Given the description of an element on the screen output the (x, y) to click on. 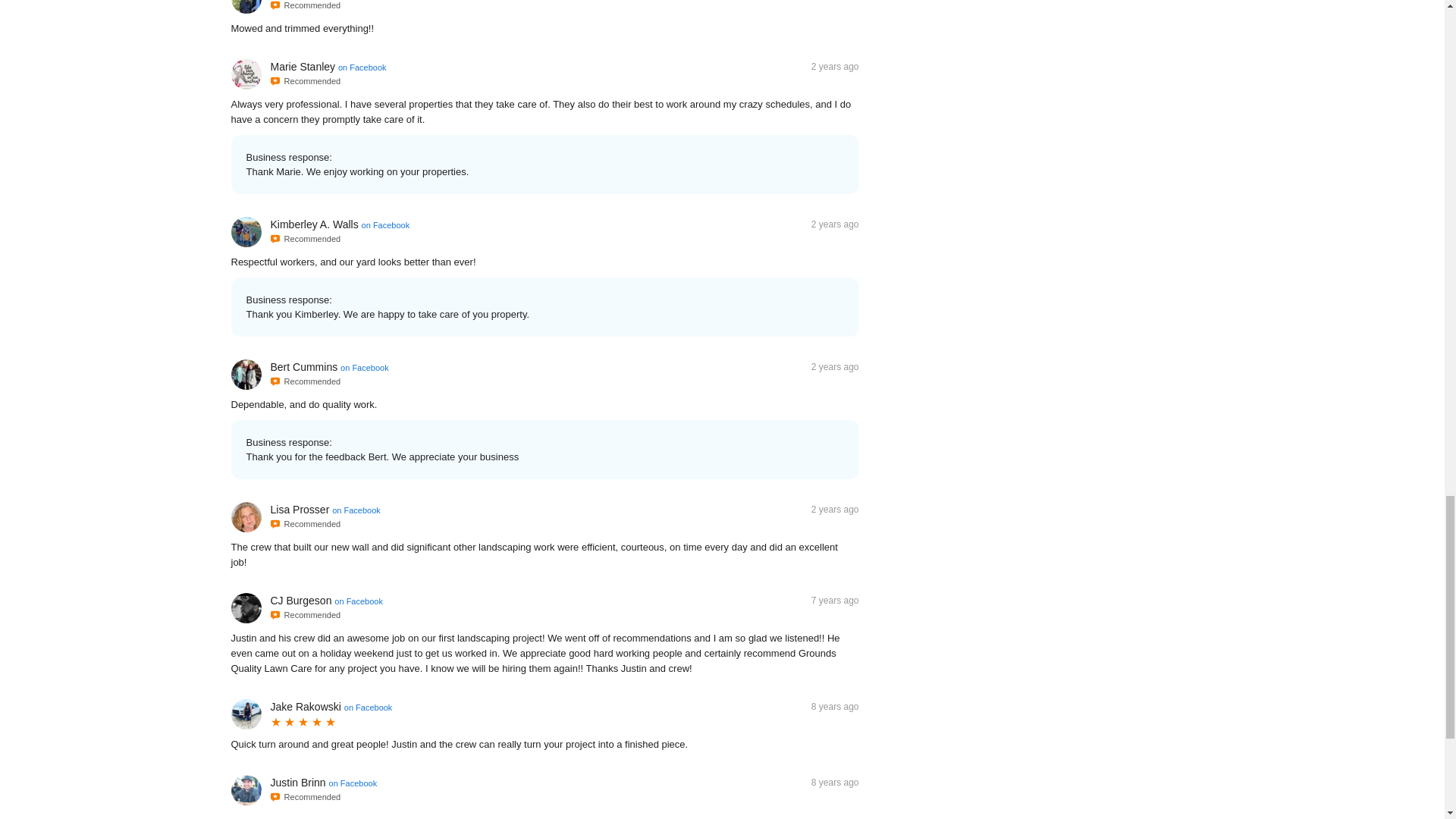
on Facebook (368, 707)
on Facebook (353, 783)
on Facebook (362, 67)
on Facebook (364, 367)
on Facebook (385, 224)
on Facebook (355, 510)
on Facebook (358, 601)
